Given the description of an element on the screen output the (x, y) to click on. 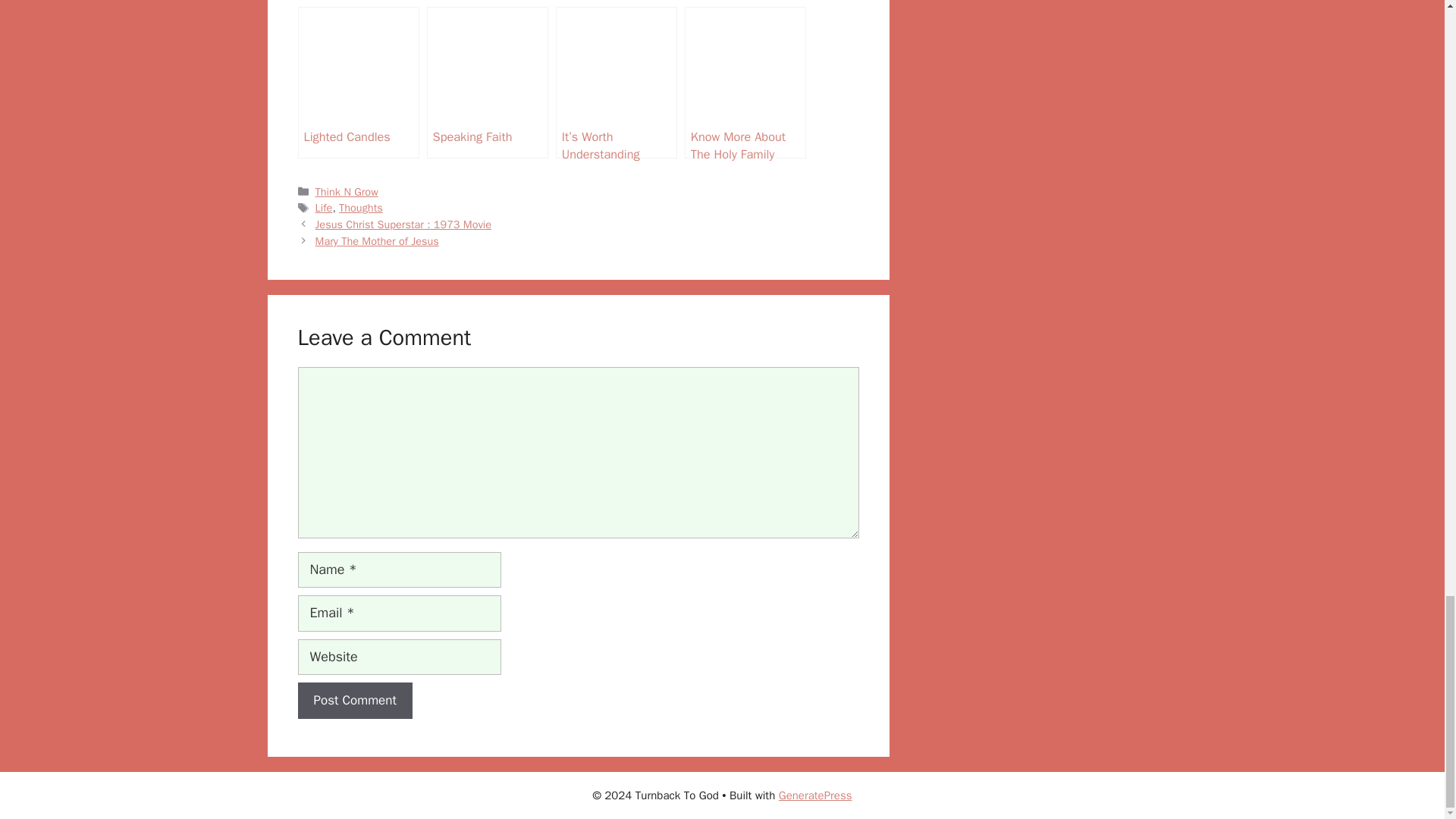
Post Comment (354, 700)
Life (324, 207)
Previous (403, 223)
Post Comment (354, 700)
Next (377, 241)
Think N Grow (346, 192)
Mary The Mother of Jesus (377, 241)
Jesus Christ Superstar : 1973 Movie (403, 223)
Thoughts (360, 207)
